Given the description of an element on the screen output the (x, y) to click on. 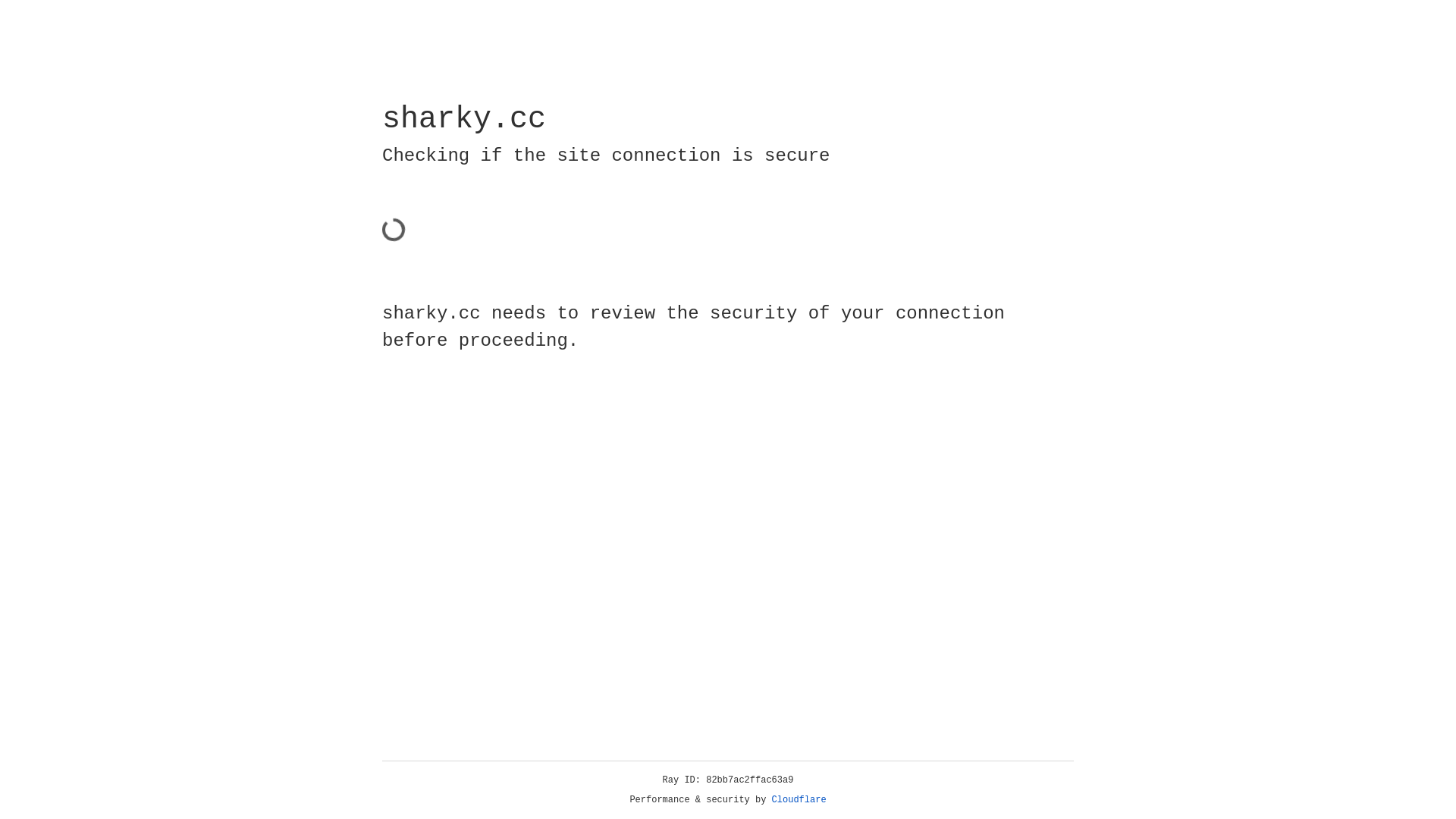
Cloudflare Element type: text (798, 799)
